Given the description of an element on the screen output the (x, y) to click on. 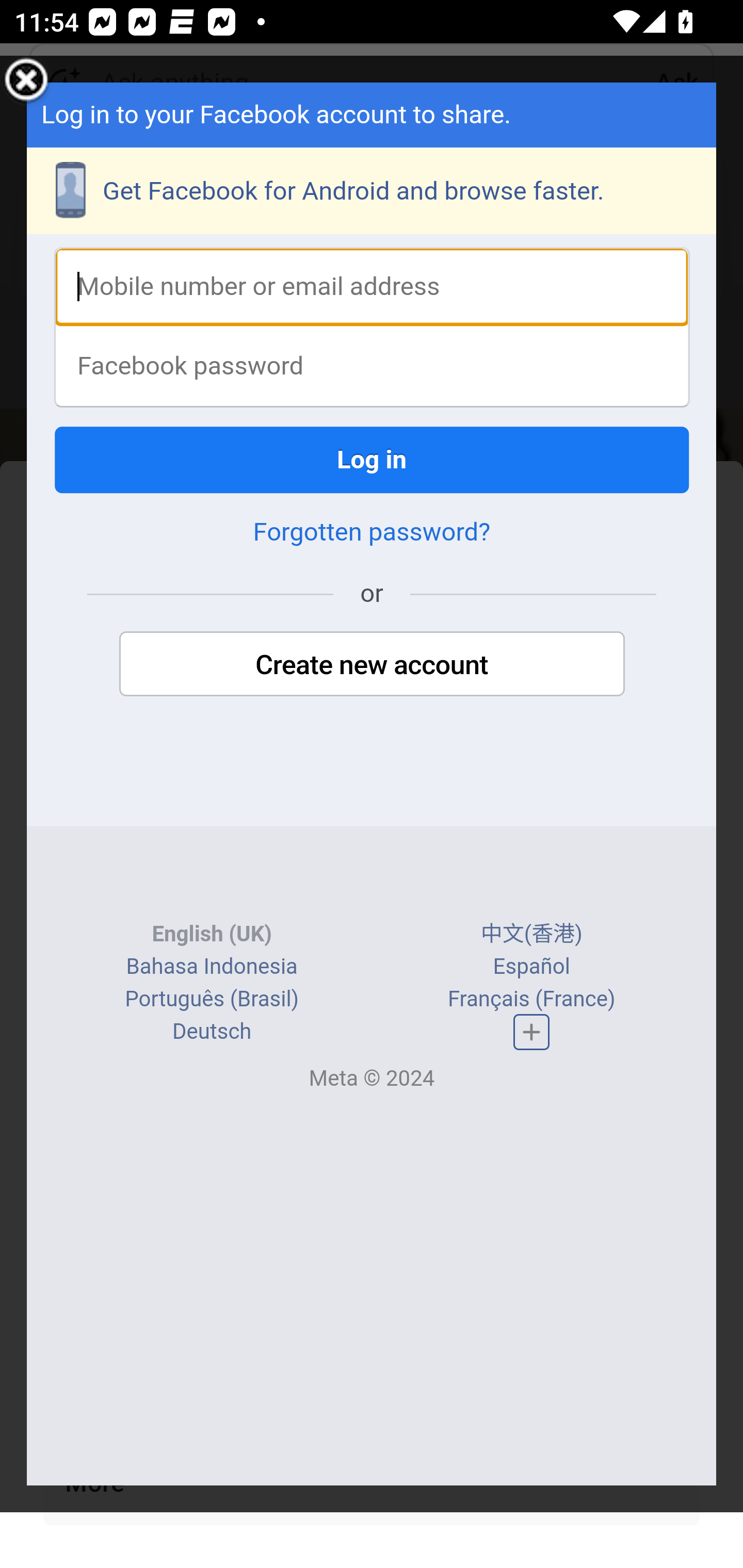
Get Facebook for Android and browse faster. (372, 190)
Log in (372, 458)
Forgotten password? (371, 531)
Create new account (371, 664)
中文(香港) (531, 933)
Bahasa Indonesia (210, 966)
Español (530, 966)
Português (Brasil) (211, 997)
Français (France) (530, 997)
Complete list of languages (531, 1032)
Deutsch (211, 1030)
